Given the description of an element on the screen output the (x, y) to click on. 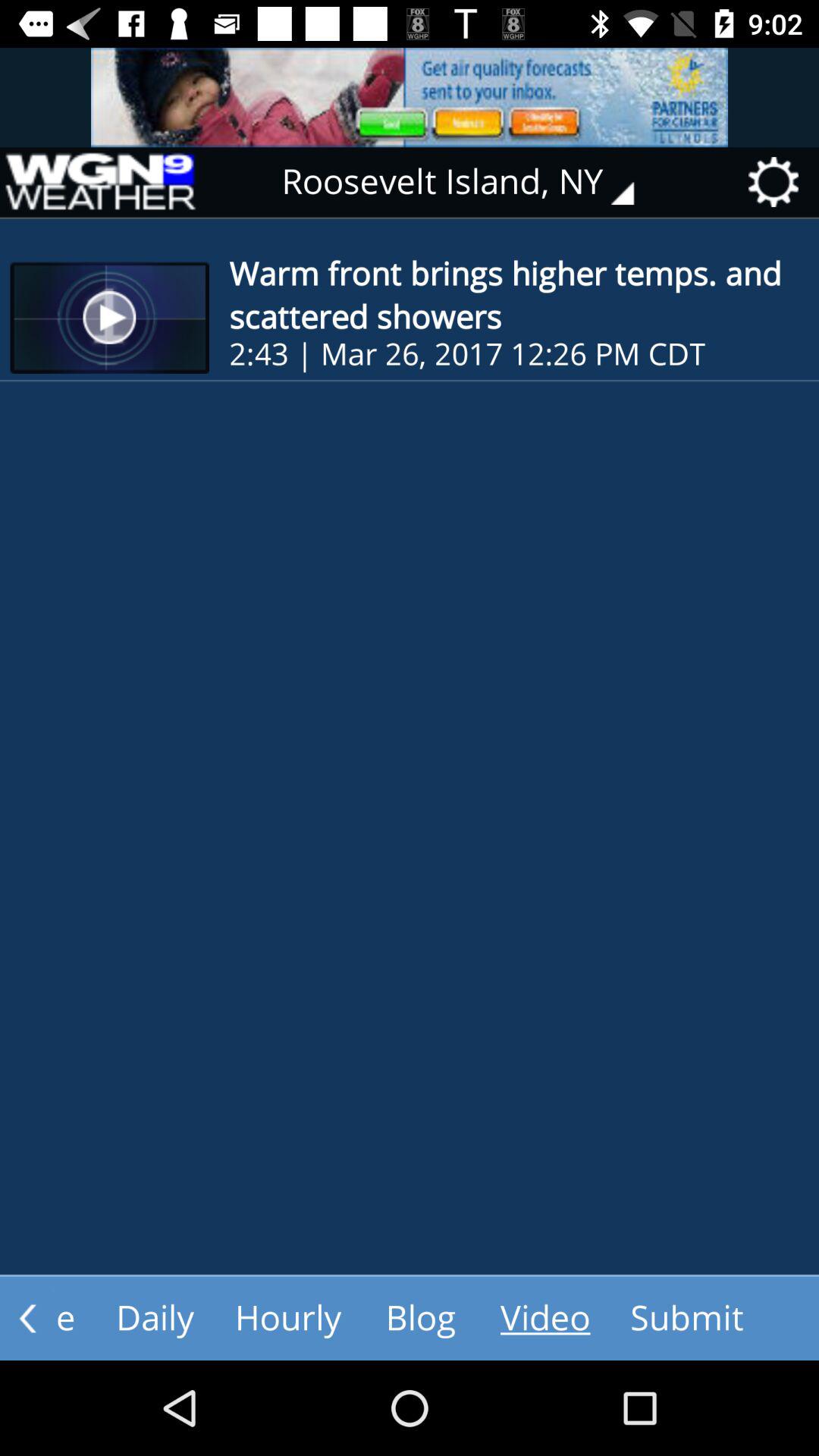
go to homepage (99, 182)
